Given the description of an element on the screen output the (x, y) to click on. 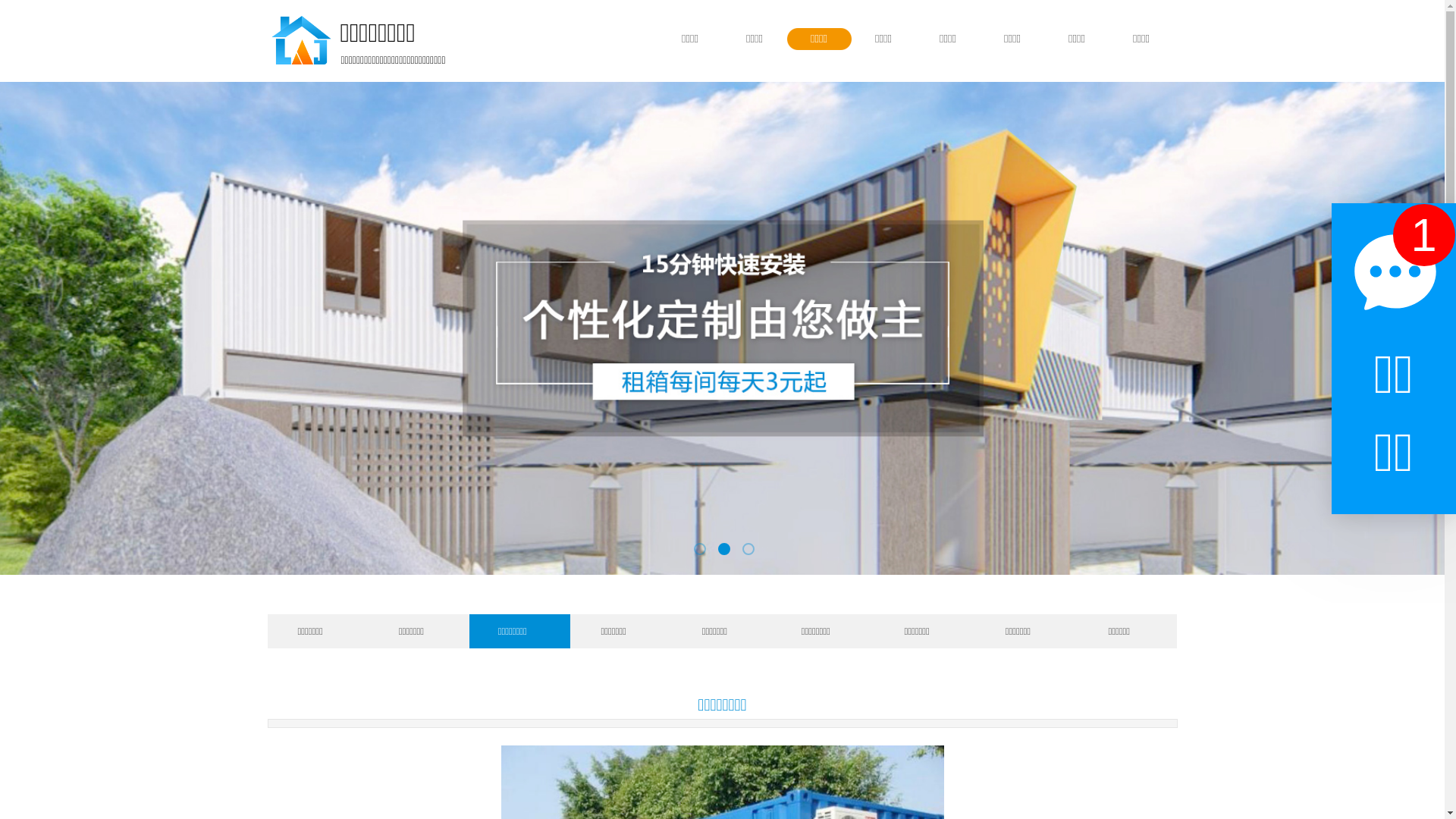
1 Element type: text (1423, 234)
